Given the description of an element on the screen output the (x, y) to click on. 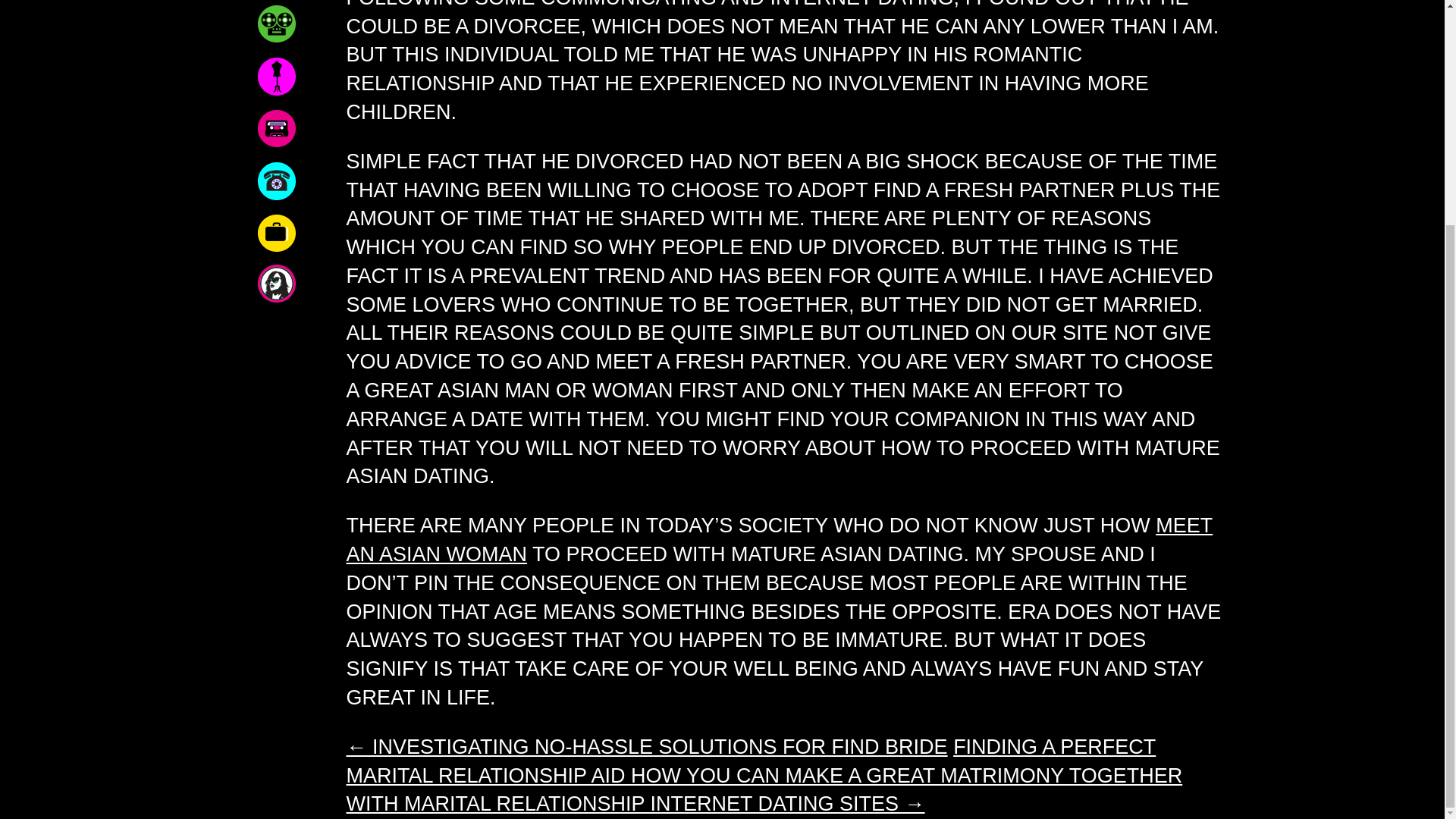
MEET AN ASIAN WOMAN (779, 539)
